Given the description of an element on the screen output the (x, y) to click on. 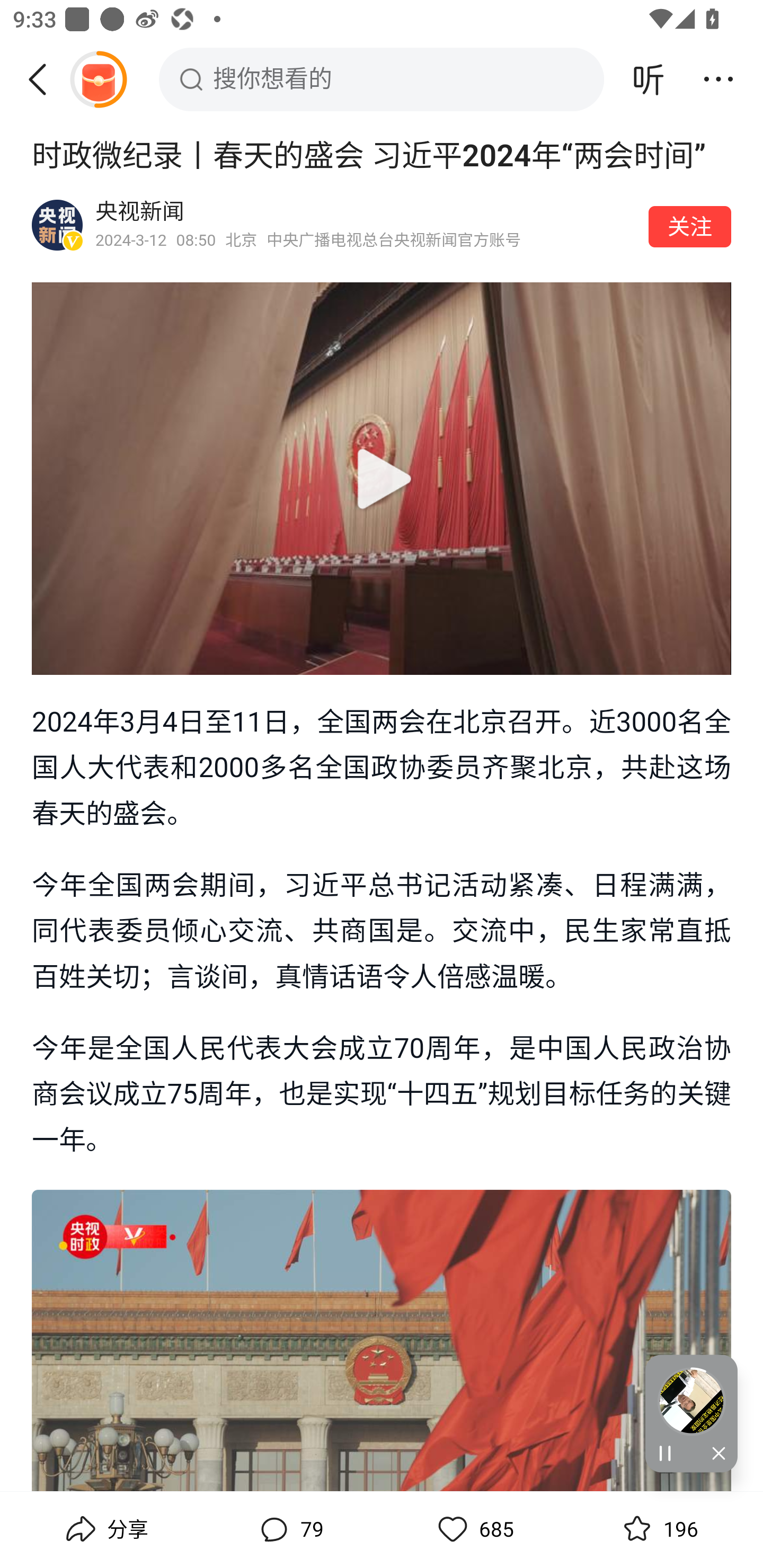
返回 (44, 78)
听头条 (648, 78)
更多操作 (718, 78)
搜你想看的 搜索框，搜你想看的 (381, 79)
阅读赚金币 (98, 79)
作者：央视新闻，简介：中央广播电视总台央视新闻官方账号，2024-3-12 08:50发布，北京 (365, 224)
关注作者 (689, 226)
播放视频 (381, 477)
播放视频 (381, 478)
图片，点击识别内容 (381, 1340)
当前进度 7% 暂停 关闭 (691, 1413)
暂停 (668, 1454)
关闭 (714, 1454)
分享 (104, 1529)
评论,79 79 (288, 1529)
收藏,196 196 (658, 1529)
